Given the description of an element on the screen output the (x, y) to click on. 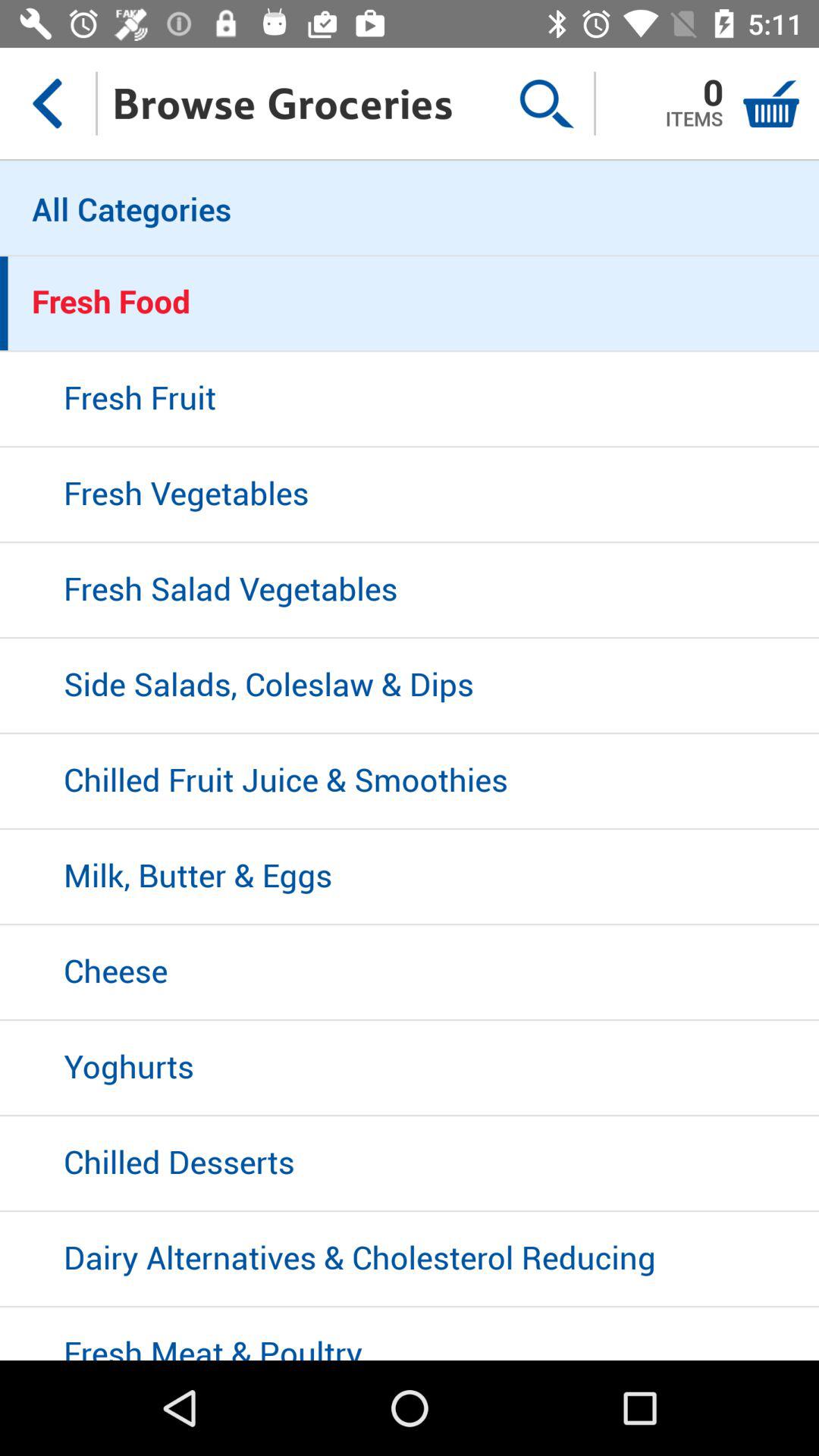
select side salads coleslaw item (409, 686)
